Given the description of an element on the screen output the (x, y) to click on. 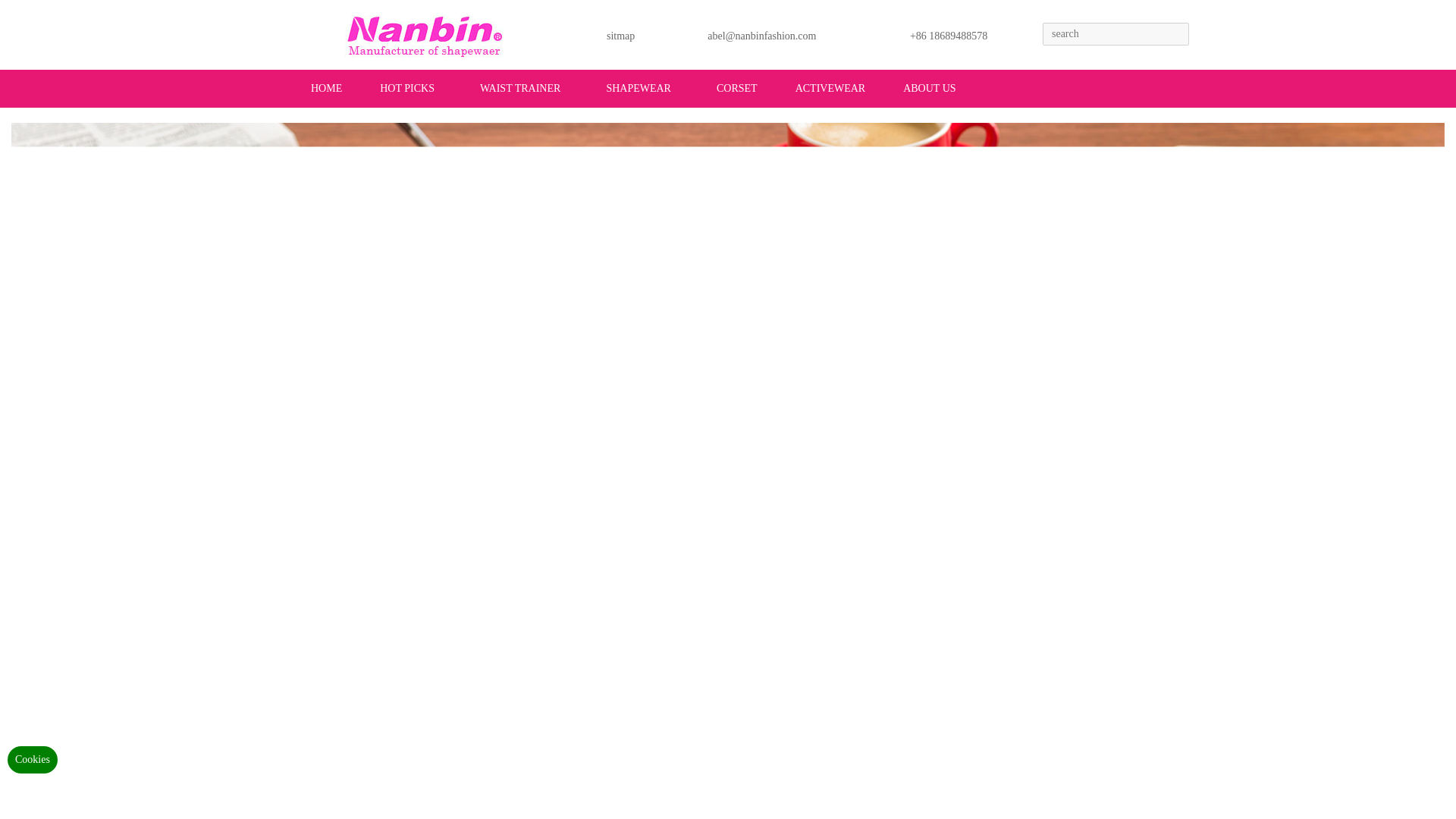
SHAPEWEAR (638, 88)
ABOUT US (929, 88)
sitmap (620, 41)
WAIST TRAINER (520, 88)
CORSET (737, 88)
HOT PICKS (406, 88)
ACTIVEWEAR (830, 88)
HOME (325, 88)
